Given the description of an element on the screen output the (x, y) to click on. 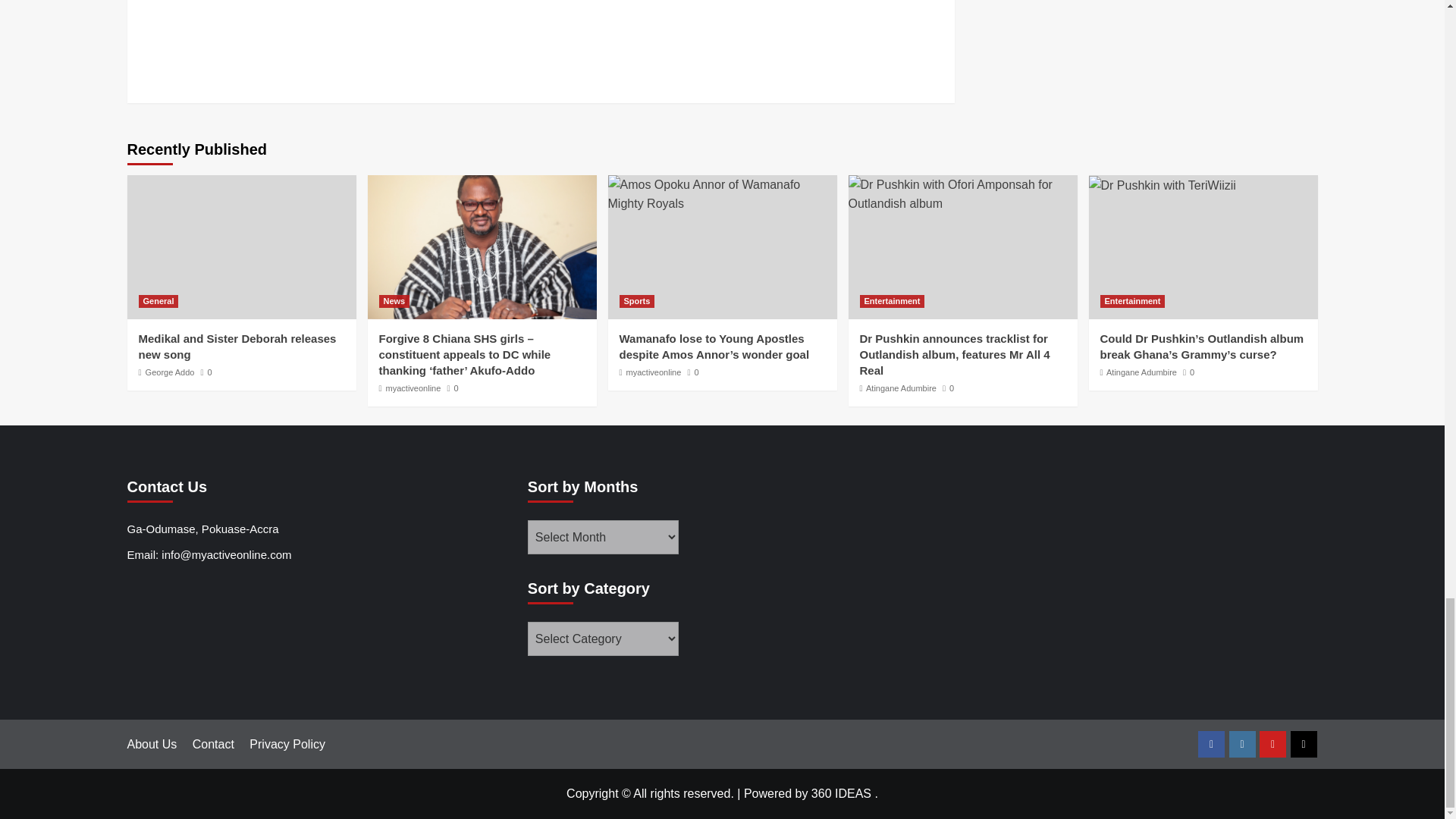
Comment Form (540, 42)
